Given the description of an element on the screen output the (x, y) to click on. 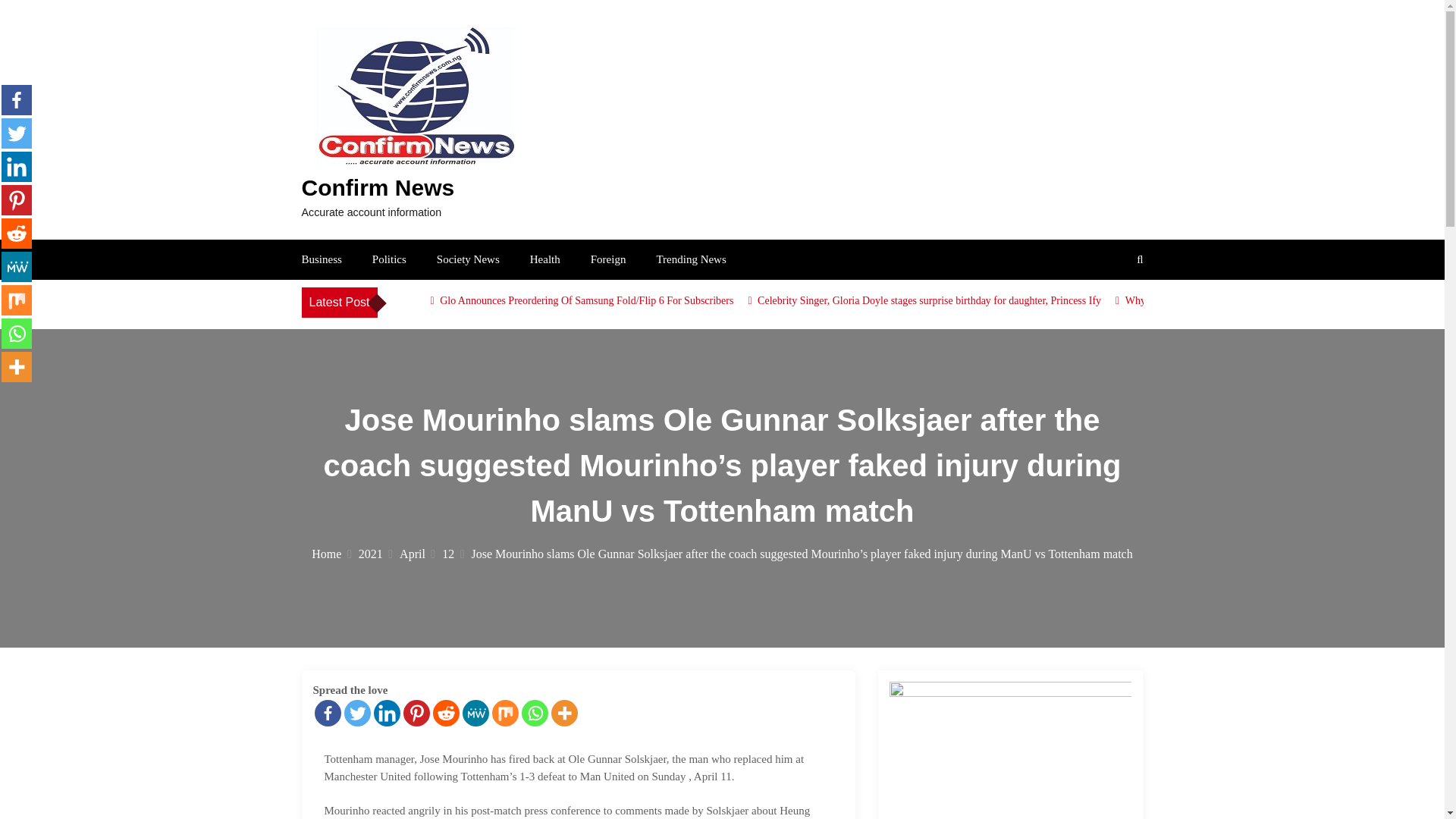
April (416, 553)
Pinterest (416, 713)
Reddit (445, 713)
Health (544, 259)
Linkedin (385, 713)
MeWe (476, 713)
Twitter (16, 132)
Home (330, 553)
Pinterest (16, 200)
Business (321, 259)
More (563, 713)
Foreign (608, 259)
Linkedin (16, 166)
Society News (467, 259)
Trending News (690, 259)
